Given the description of an element on the screen output the (x, y) to click on. 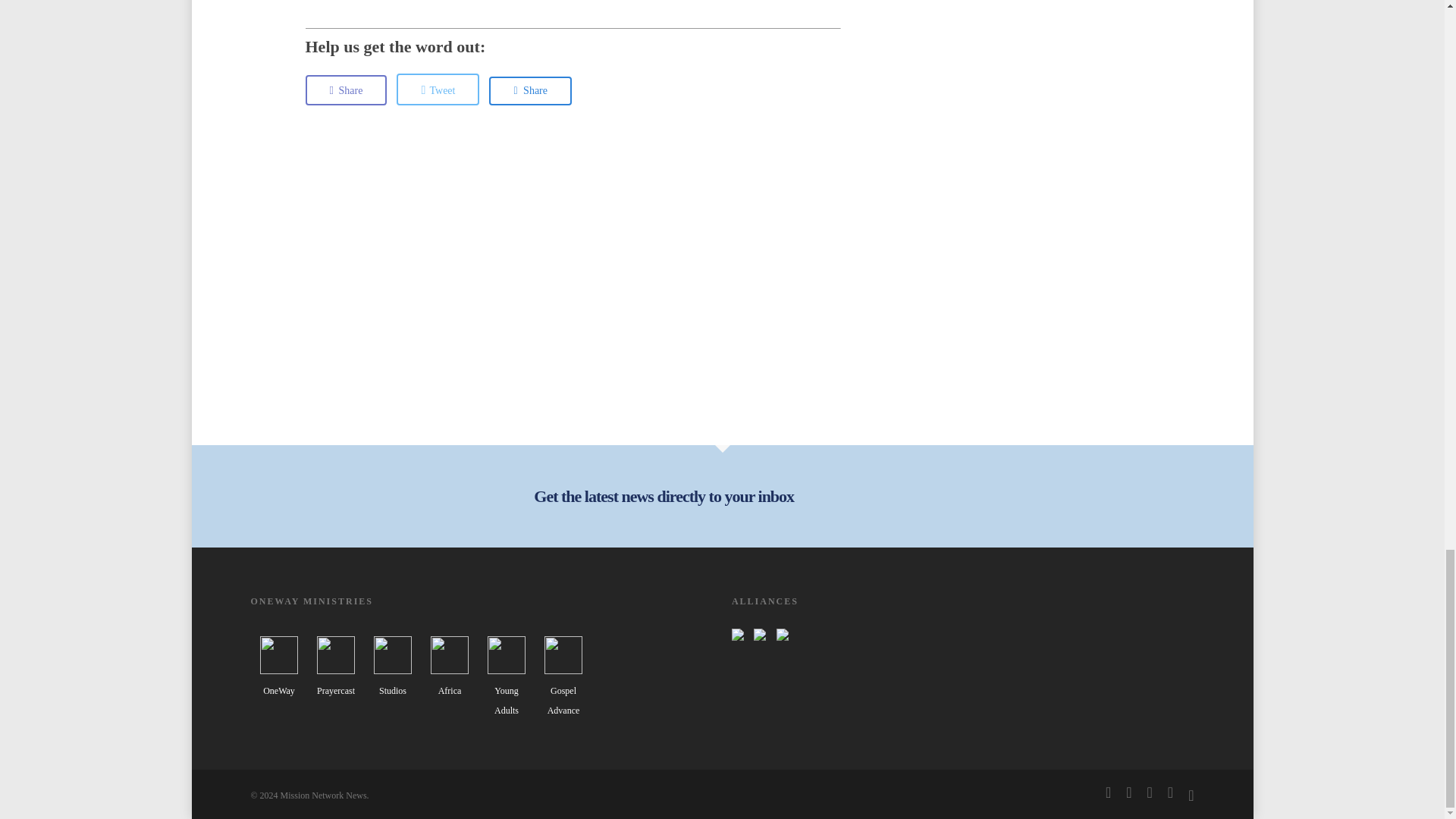
Share this (345, 90)
Share this (530, 90)
Tweet this (437, 89)
